Given the description of an element on the screen output the (x, y) to click on. 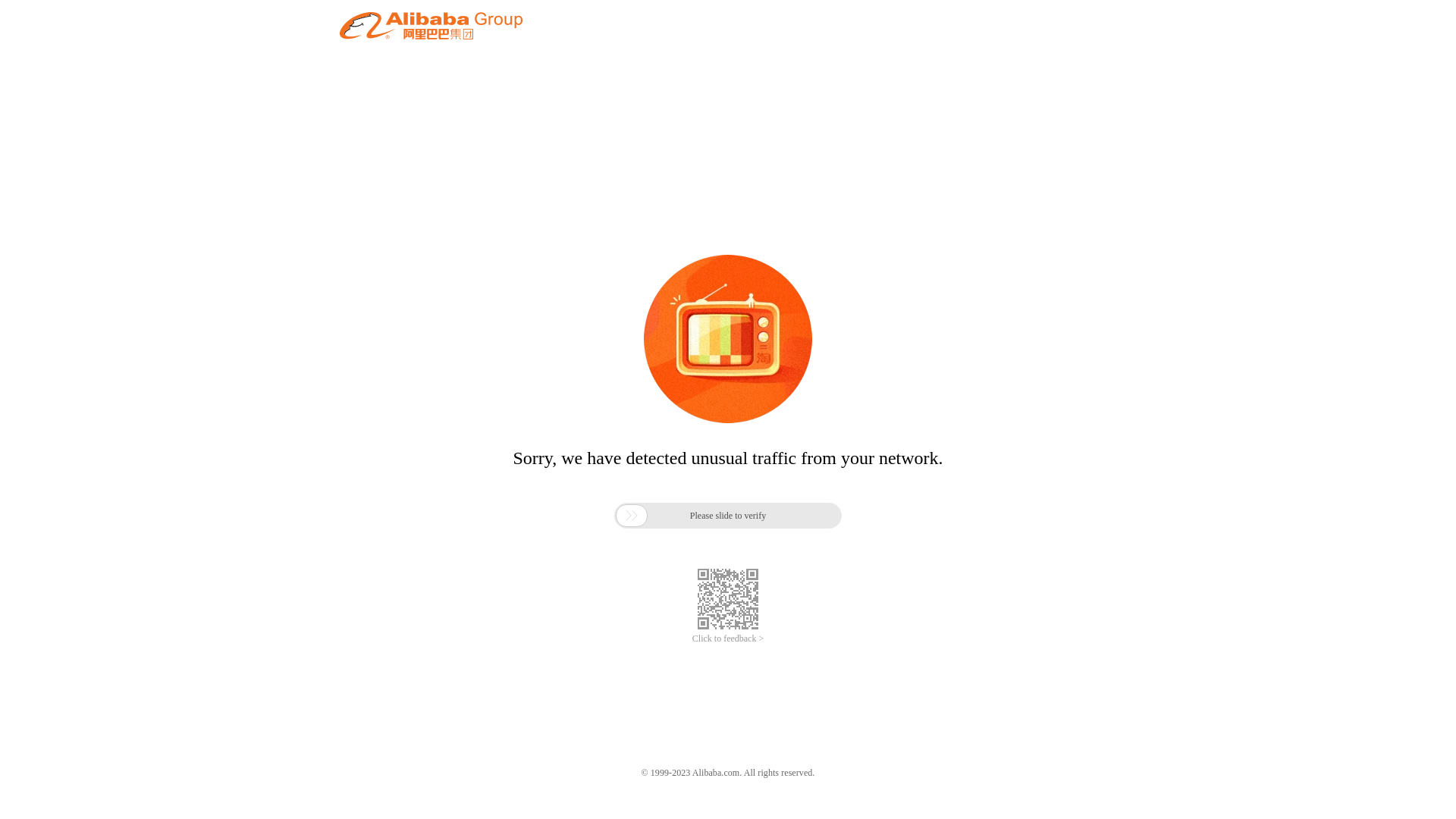
Click to feedback > Element type: text (727, 638)
